Given the description of an element on the screen output the (x, y) to click on. 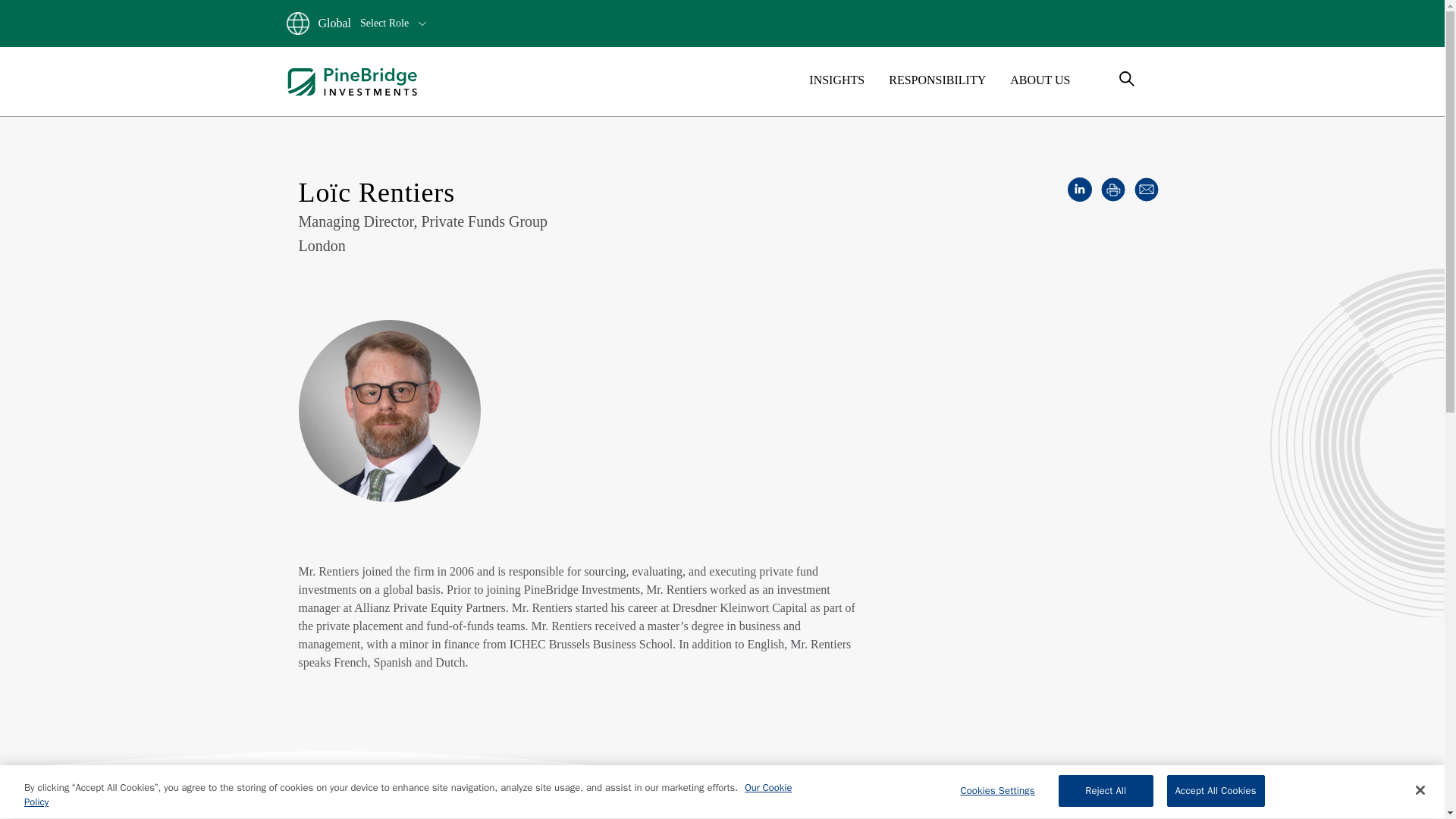
INSIGHTS (836, 80)
RESPONSIBILITY (936, 80)
ABOUT US (1040, 80)
